Given the description of an element on the screen output the (x, y) to click on. 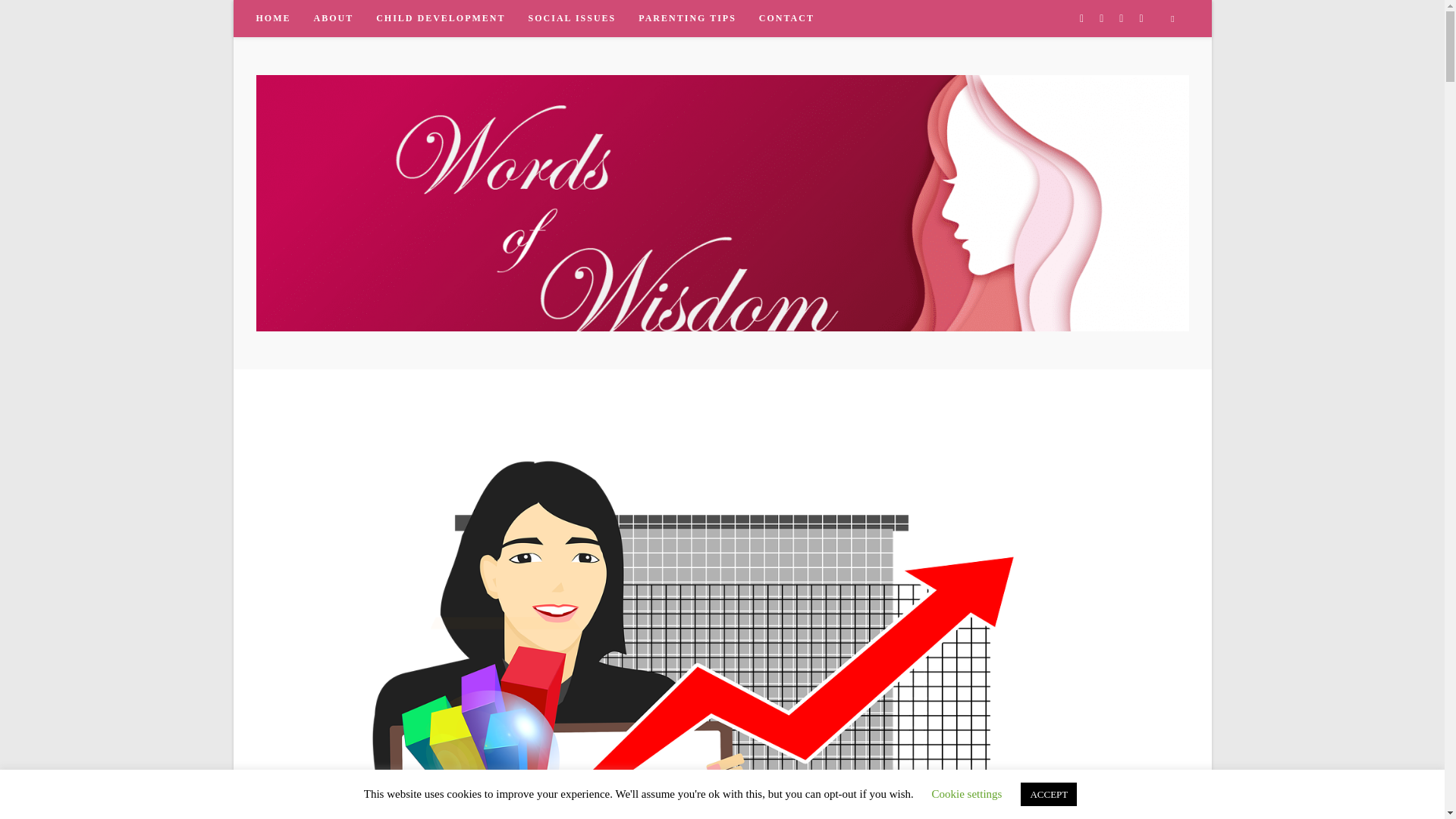
CHILD DEVELOPMENT (440, 18)
SOCIAL ISSUES (571, 18)
HOME (272, 18)
ABOUT (333, 18)
PARENTING TIPS (687, 18)
CONTACT (786, 18)
